Given the description of an element on the screen output the (x, y) to click on. 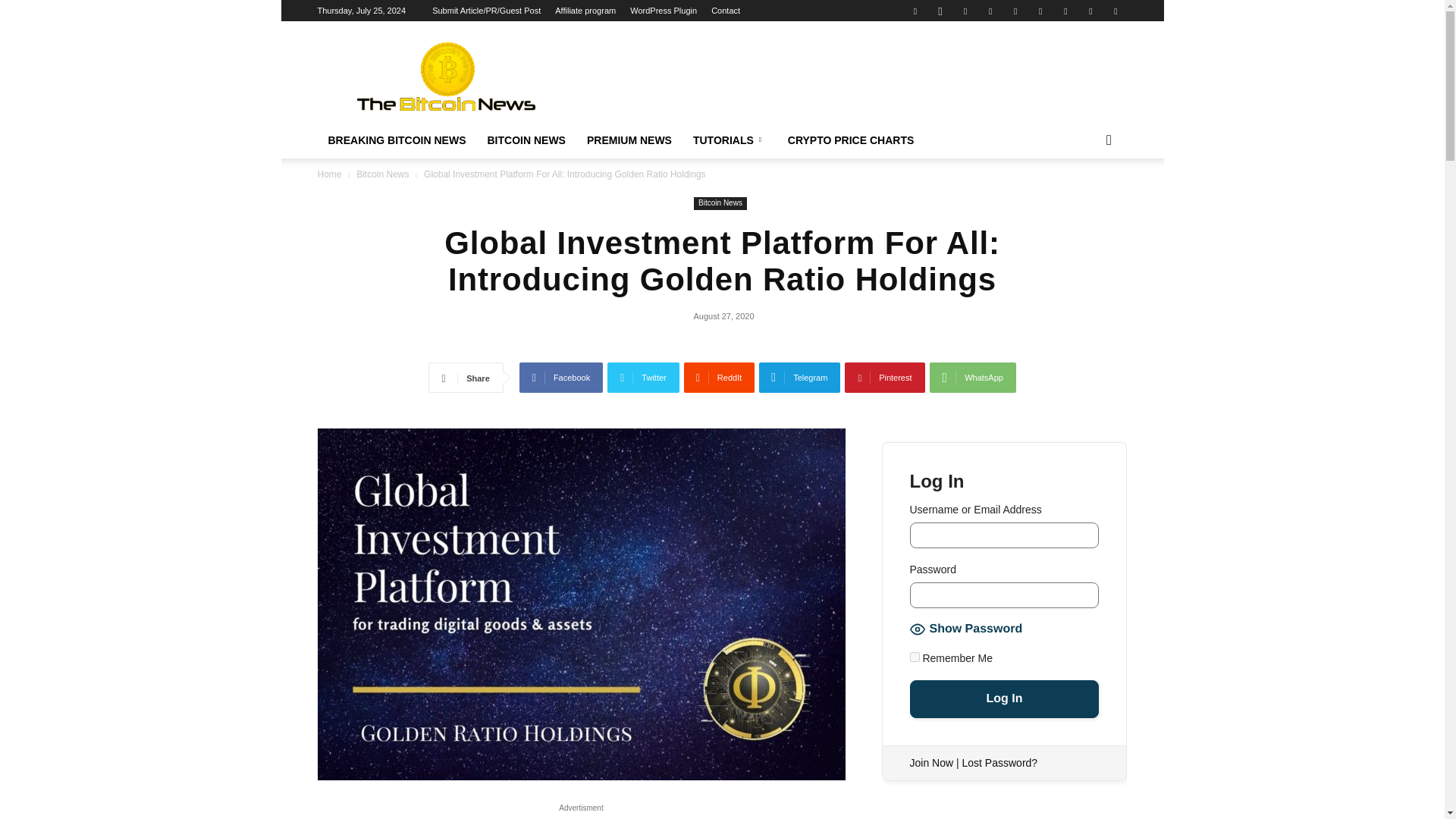
Instagram (940, 10)
WordPress Plugin (663, 10)
Pinterest (989, 10)
Reddit (1015, 10)
Affiliate program (584, 10)
Log In (1004, 699)
forever (915, 656)
Facebook (915, 10)
Contact (725, 10)
Mail (964, 10)
